Given the description of an element on the screen output the (x, y) to click on. 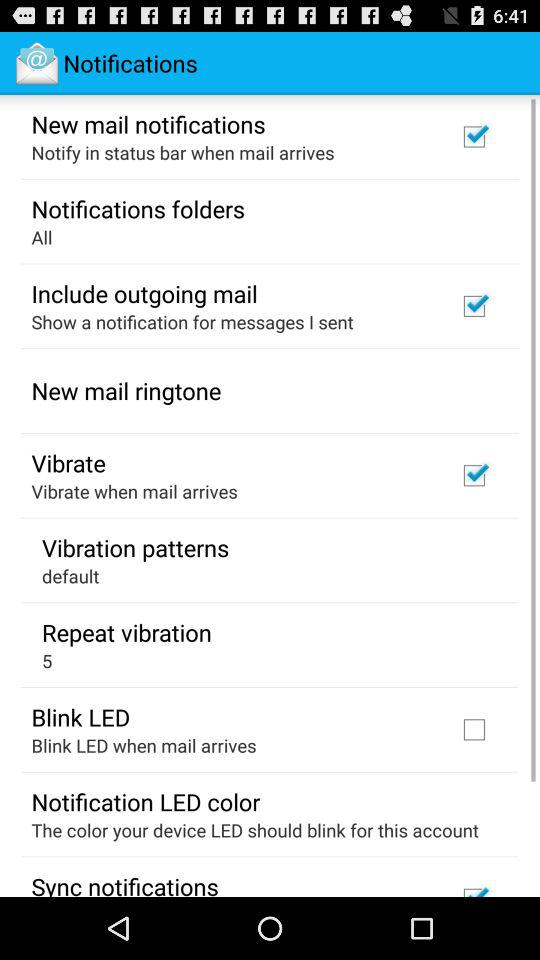
tap show a notification icon (192, 321)
